Given the description of an element on the screen output the (x, y) to click on. 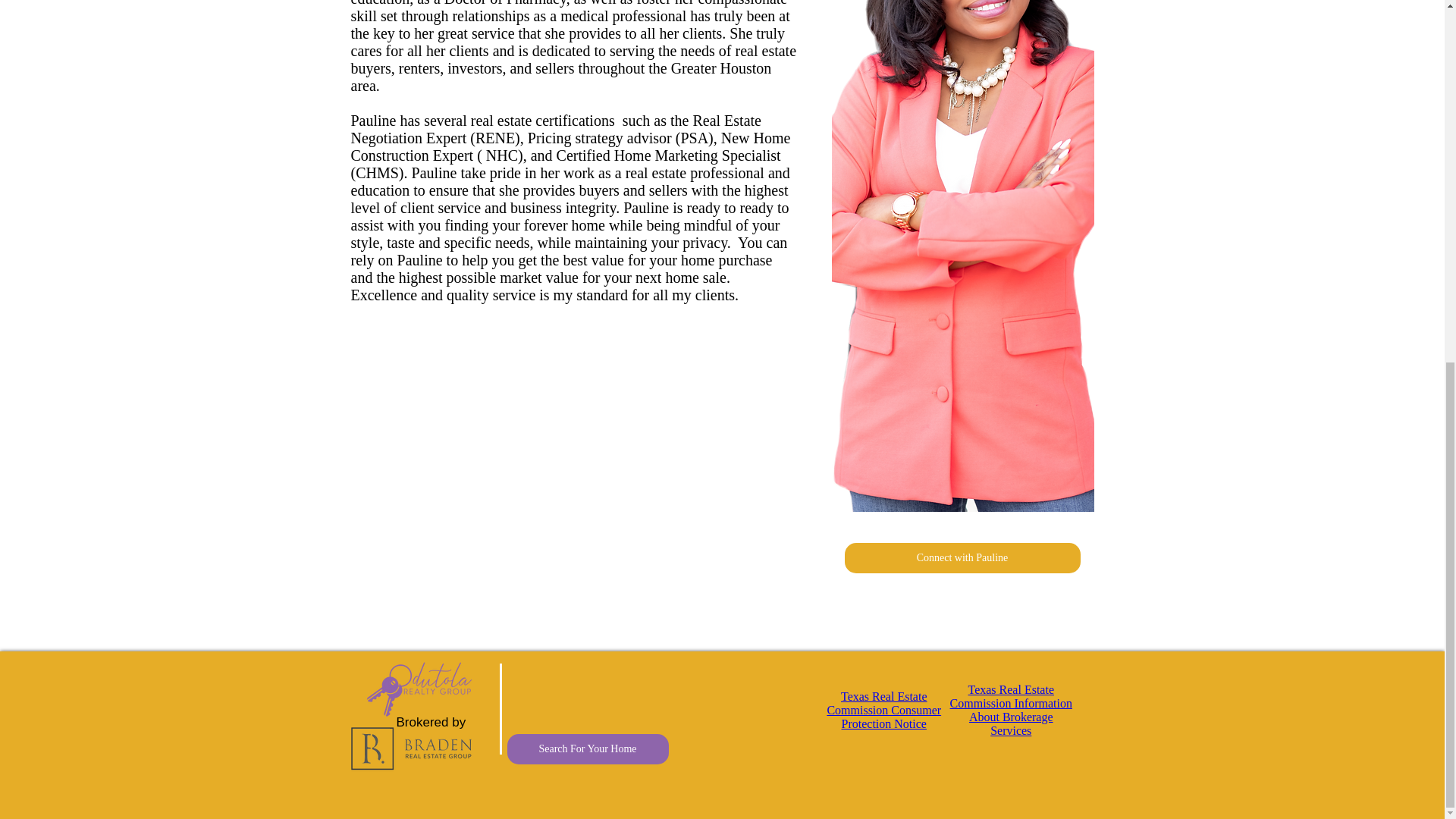
Embedded Content (946, 710)
Search For Your Home (587, 748)
Connect with Pauline (962, 557)
